Given the description of an element on the screen output the (x, y) to click on. 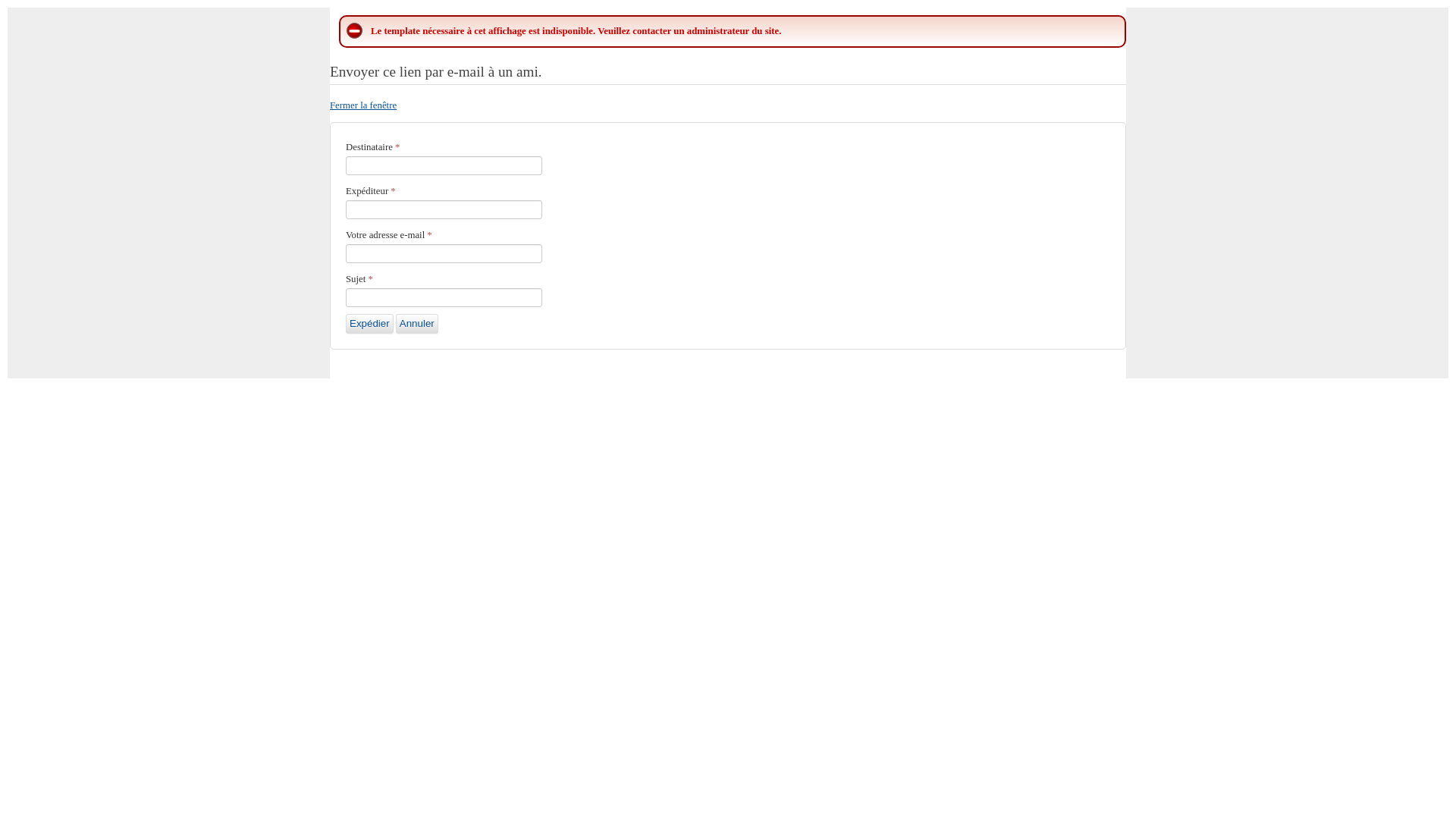
Annuler Element type: text (416, 323)
